Given the description of an element on the screen output the (x, y) to click on. 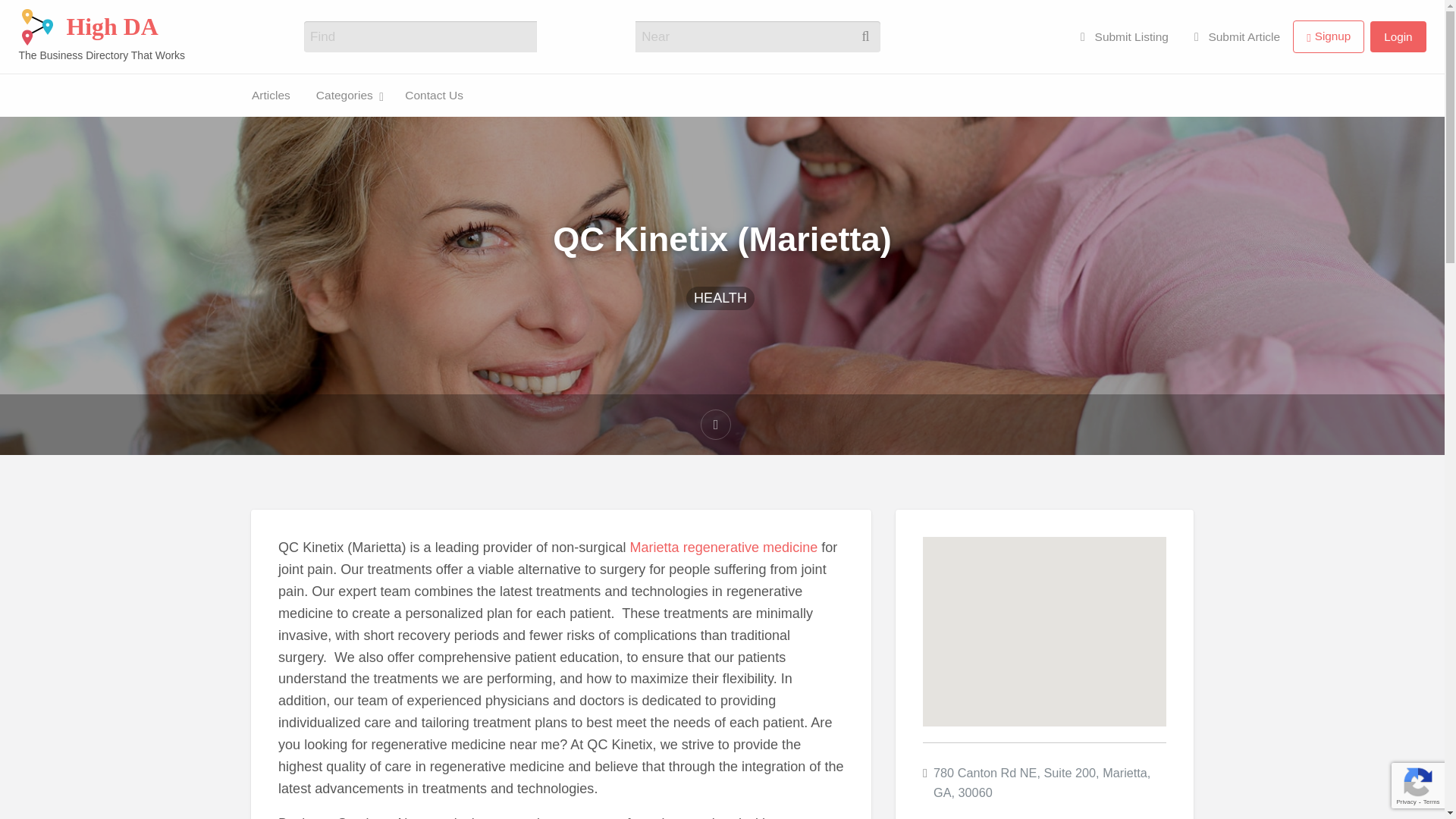
Login (1397, 36)
High DA (111, 26)
Submit Listing (1123, 36)
Articles (270, 94)
Categories (346, 94)
Search (665, 37)
Contact Us (26, 116)
Search (665, 37)
Signup (1328, 36)
Submit Article (1236, 36)
